Given the description of an element on the screen output the (x, y) to click on. 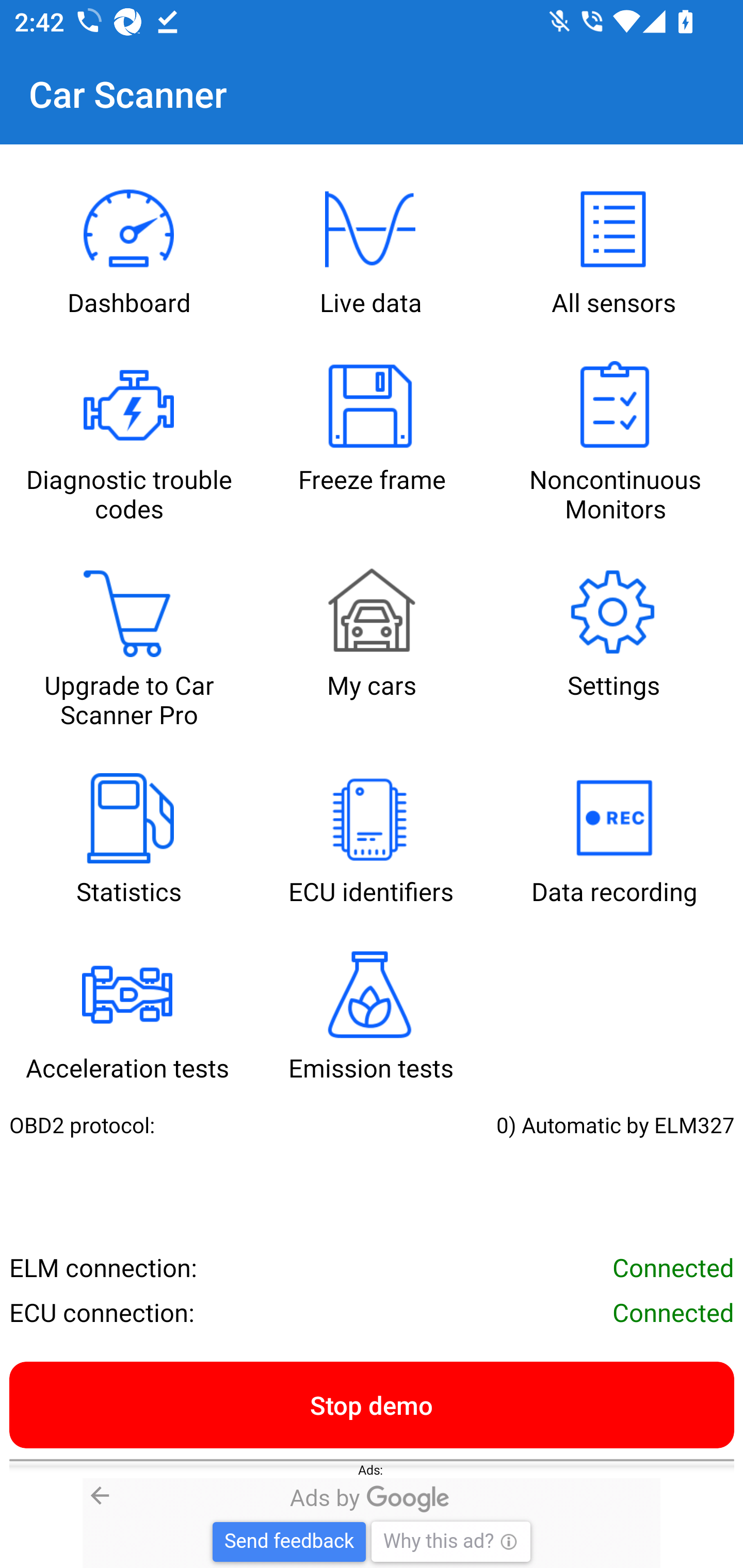
Stop demo (371, 1404)
